Given the description of an element on the screen output the (x, y) to click on. 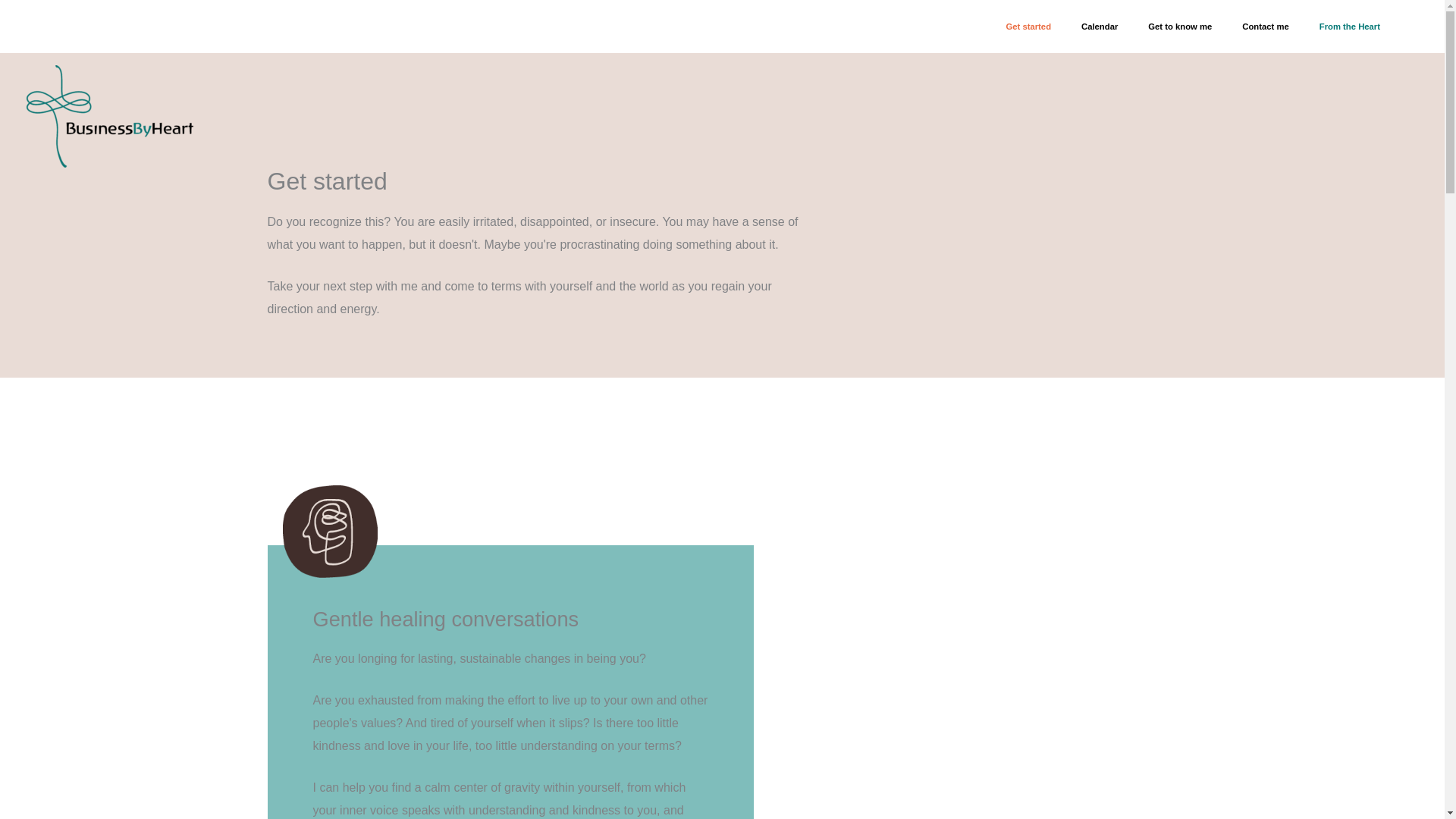
Contact me (1265, 26)
Get to know me (1179, 26)
Get started (1027, 26)
From the Heart (1349, 26)
Calendar (1098, 26)
